Given the description of an element on the screen output the (x, y) to click on. 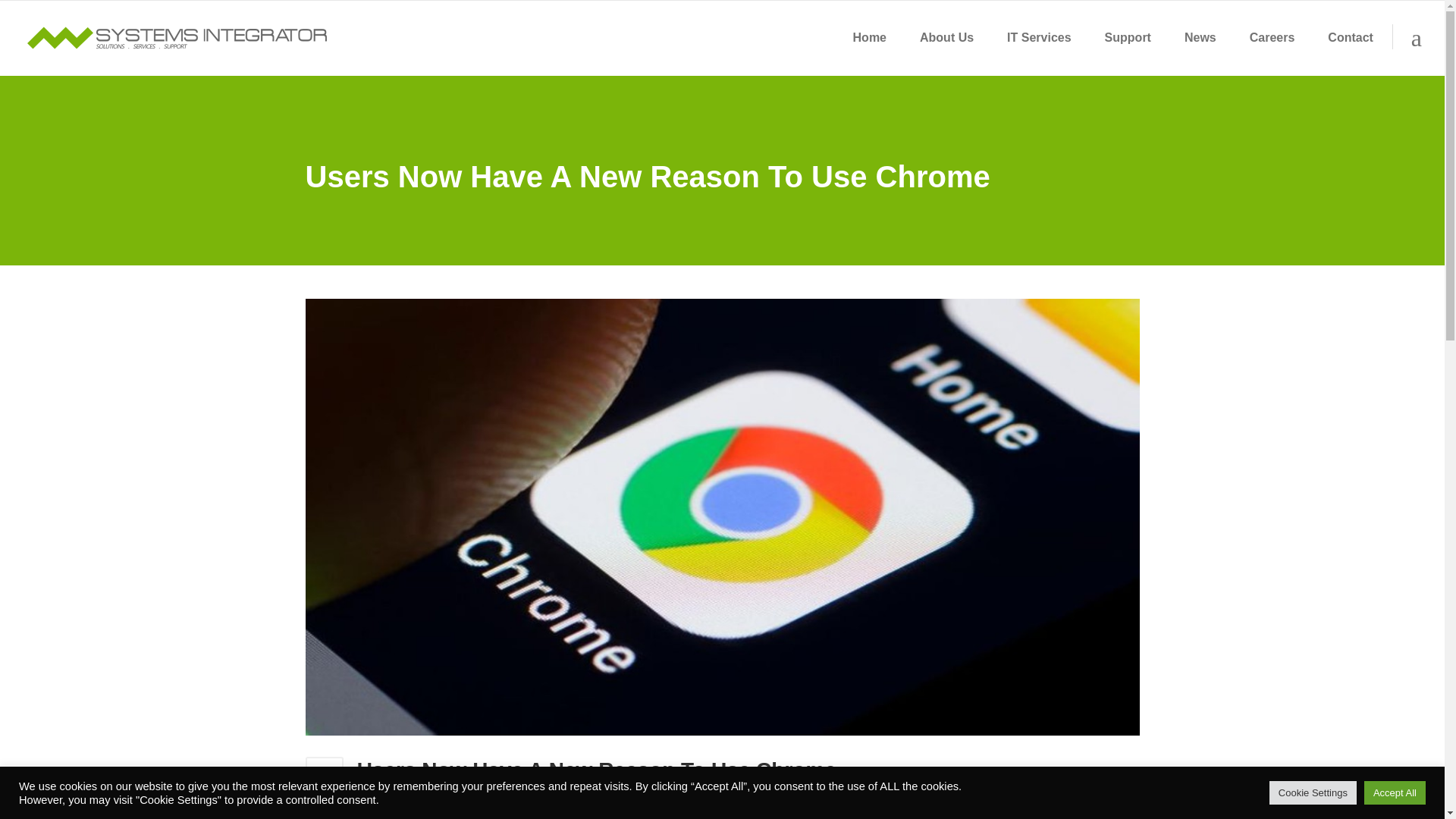
Contact (1351, 38)
About Us (946, 38)
Support (1127, 38)
IT Services (1038, 38)
Careers (1272, 38)
